Given the description of an element on the screen output the (x, y) to click on. 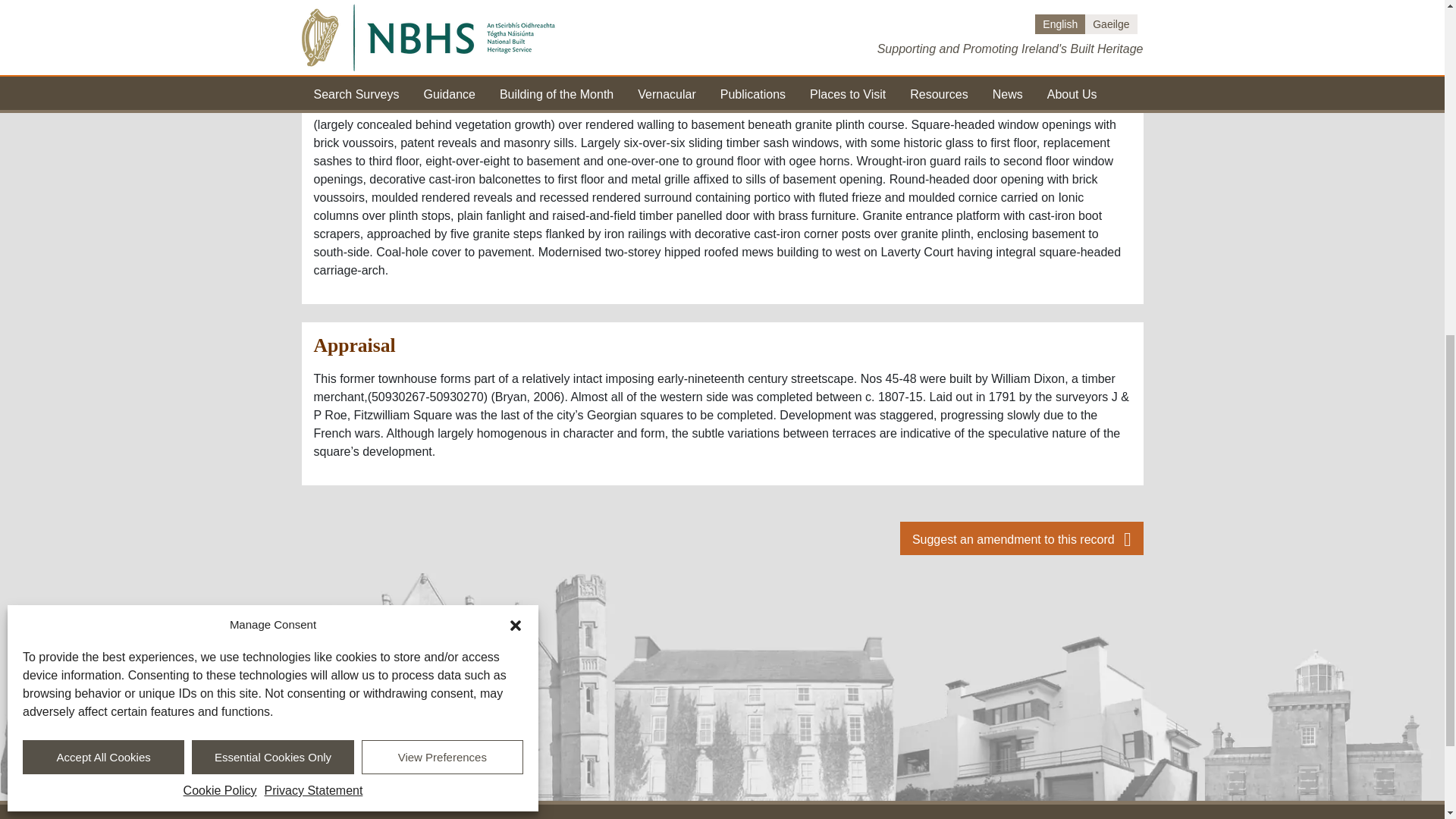
View Preferences (441, 110)
Privacy Statement (313, 144)
Accept All Cookies (103, 110)
Suggest an amendment to this record (1020, 538)
Cookie Policy (220, 144)
Essential Cookies Only (272, 110)
